Given the description of an element on the screen output the (x, y) to click on. 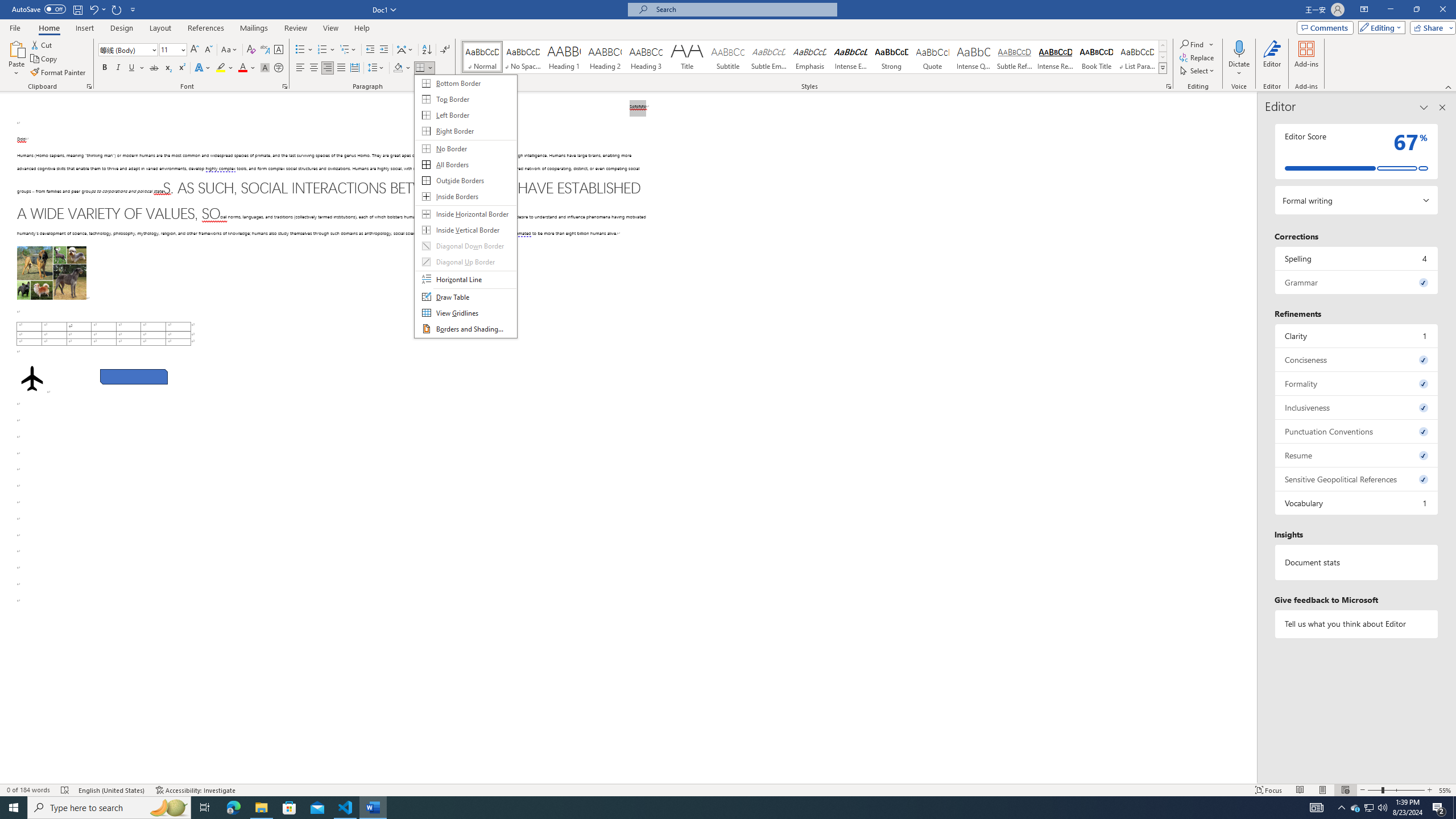
Strikethrough (154, 67)
Paste (16, 48)
Font Color (246, 67)
Close pane (1441, 107)
Restore Down (1416, 9)
Row Down (1162, 56)
Focus  (1268, 790)
Zoom Out (1374, 790)
Document statistics (1356, 561)
Bullets (300, 49)
Center (313, 67)
AutomationID: QuickStylesGallery (814, 56)
File Tab (15, 27)
